Given the description of an element on the screen output the (x, y) to click on. 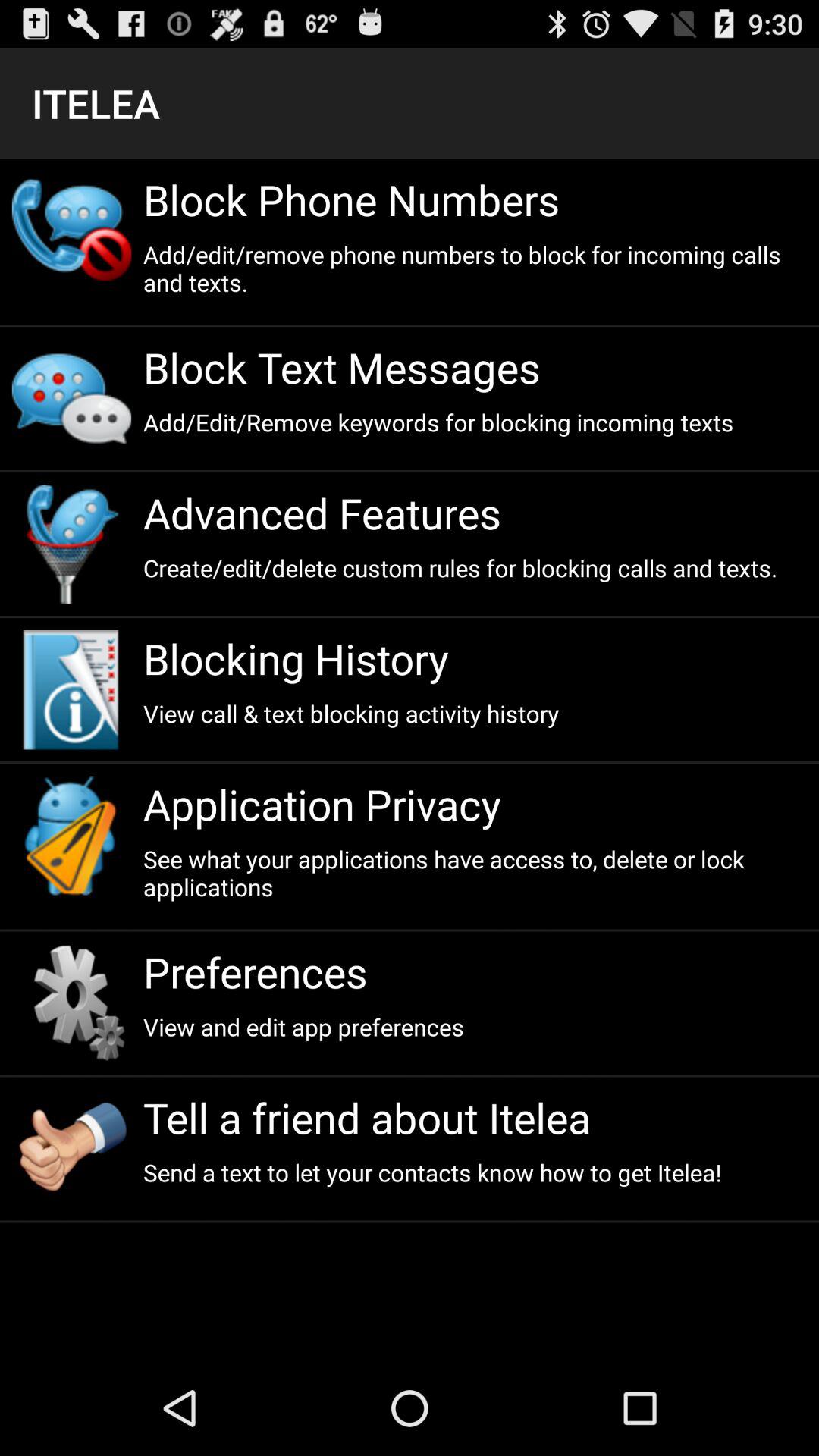
press the icon above preferences app (475, 872)
